Given the description of an element on the screen output the (x, y) to click on. 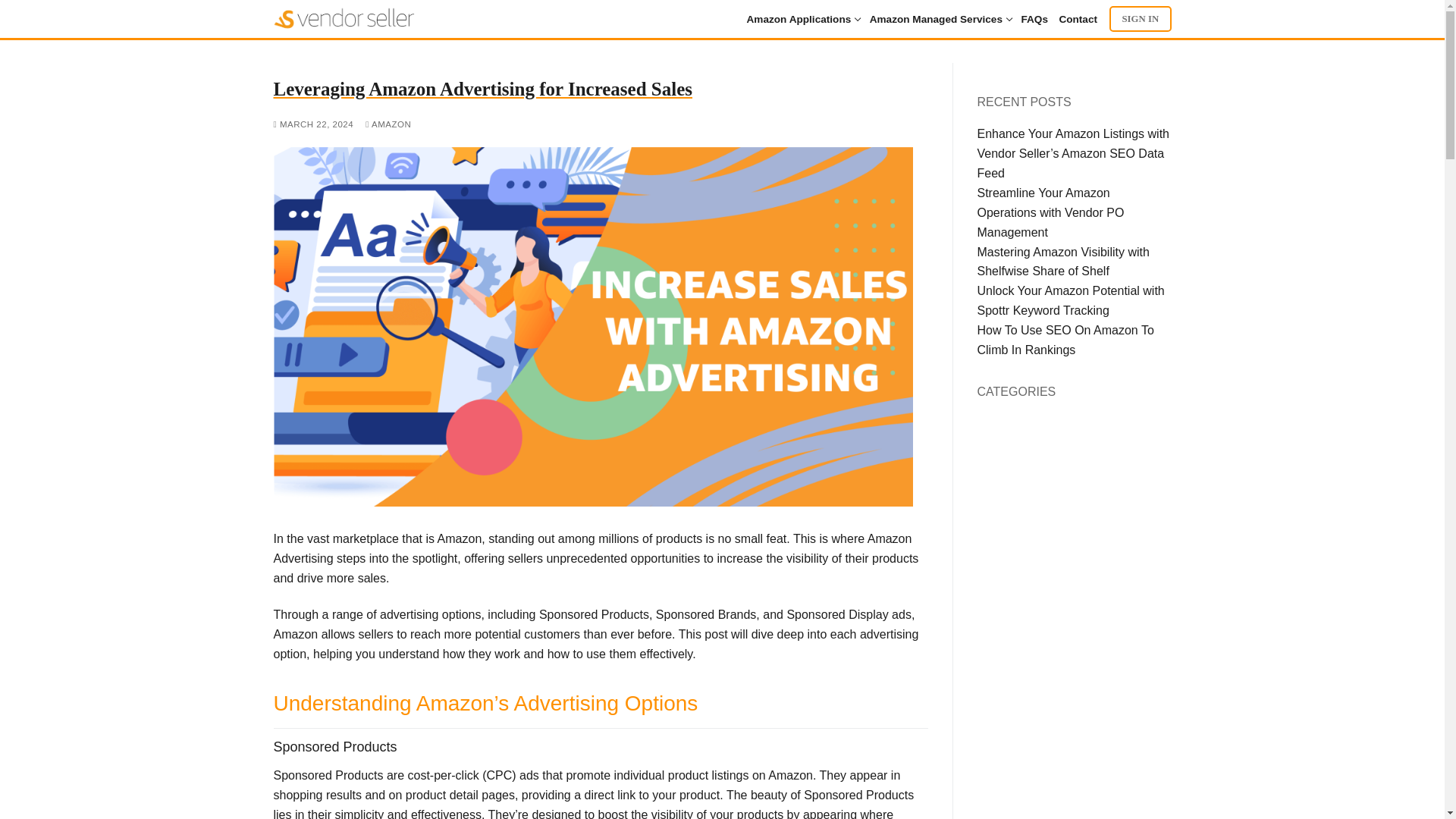
Streamline Your Amazon Operations with Vendor PO Management (1050, 212)
Unlock Your Amazon Potential with Spottr Keyword Tracking (1069, 300)
AMAZON (387, 123)
SIGN IN (1140, 18)
Mastering Amazon Visibility with Shelfwise Share of Shelf (1062, 261)
How To Use SEO On Amazon To Climb In Rankings (1064, 339)
Contact (935, 19)
FAQs (799, 19)
MARCH 22, 2024 (1074, 19)
